Given the description of an element on the screen output the (x, y) to click on. 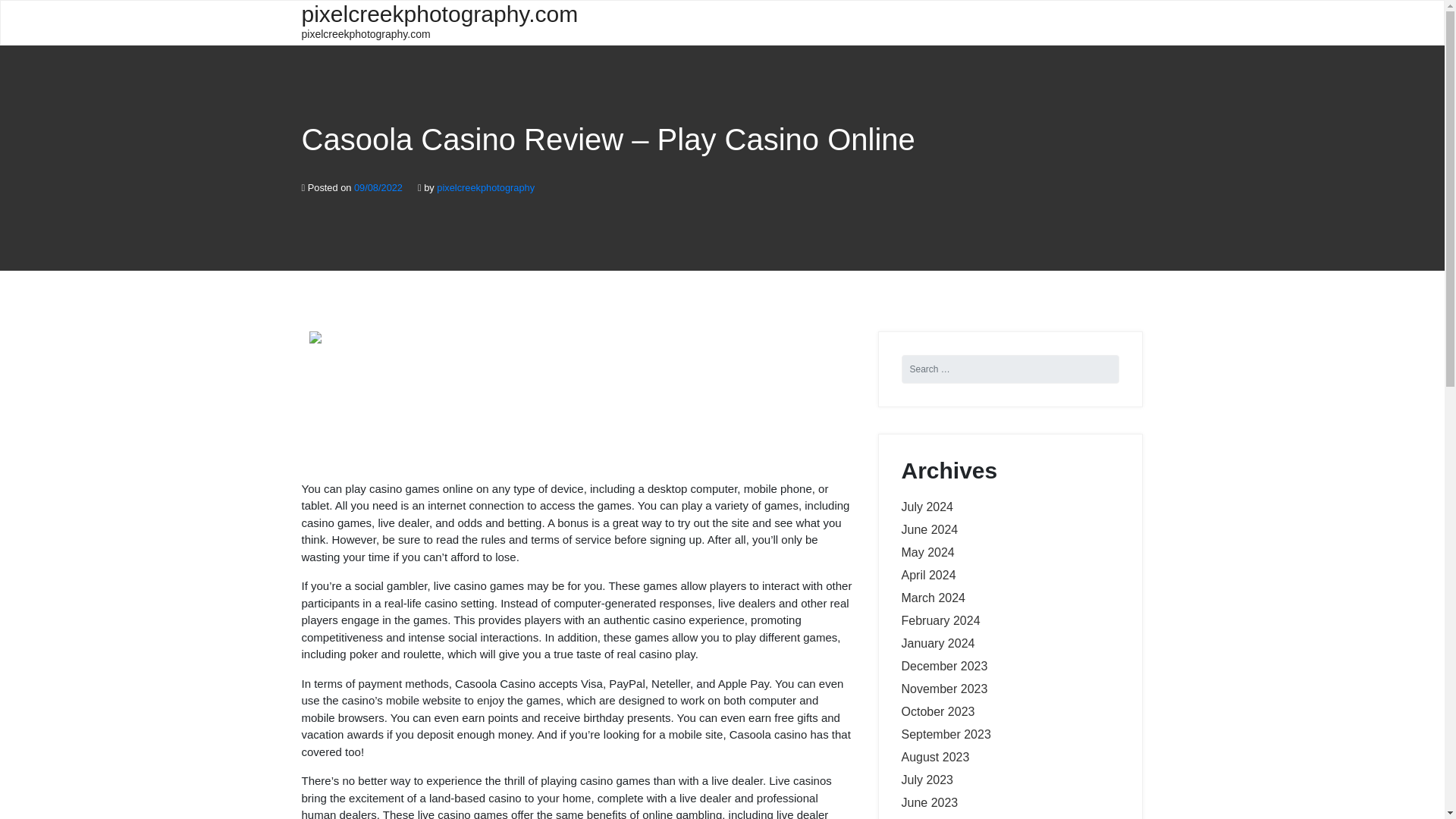
September 2023 (945, 734)
October 2023 (937, 711)
January 2024 (937, 643)
November 2023 (944, 688)
February 2024 (940, 620)
May 2024 (927, 552)
pixelcreekphotography (485, 187)
July 2024 (927, 506)
December 2023 (944, 666)
August 2023 (935, 757)
July 2023 (927, 779)
June 2024 (929, 529)
April 2024 (928, 574)
June 2023 (929, 802)
March 2024 (933, 597)
